Given the description of an element on the screen output the (x, y) to click on. 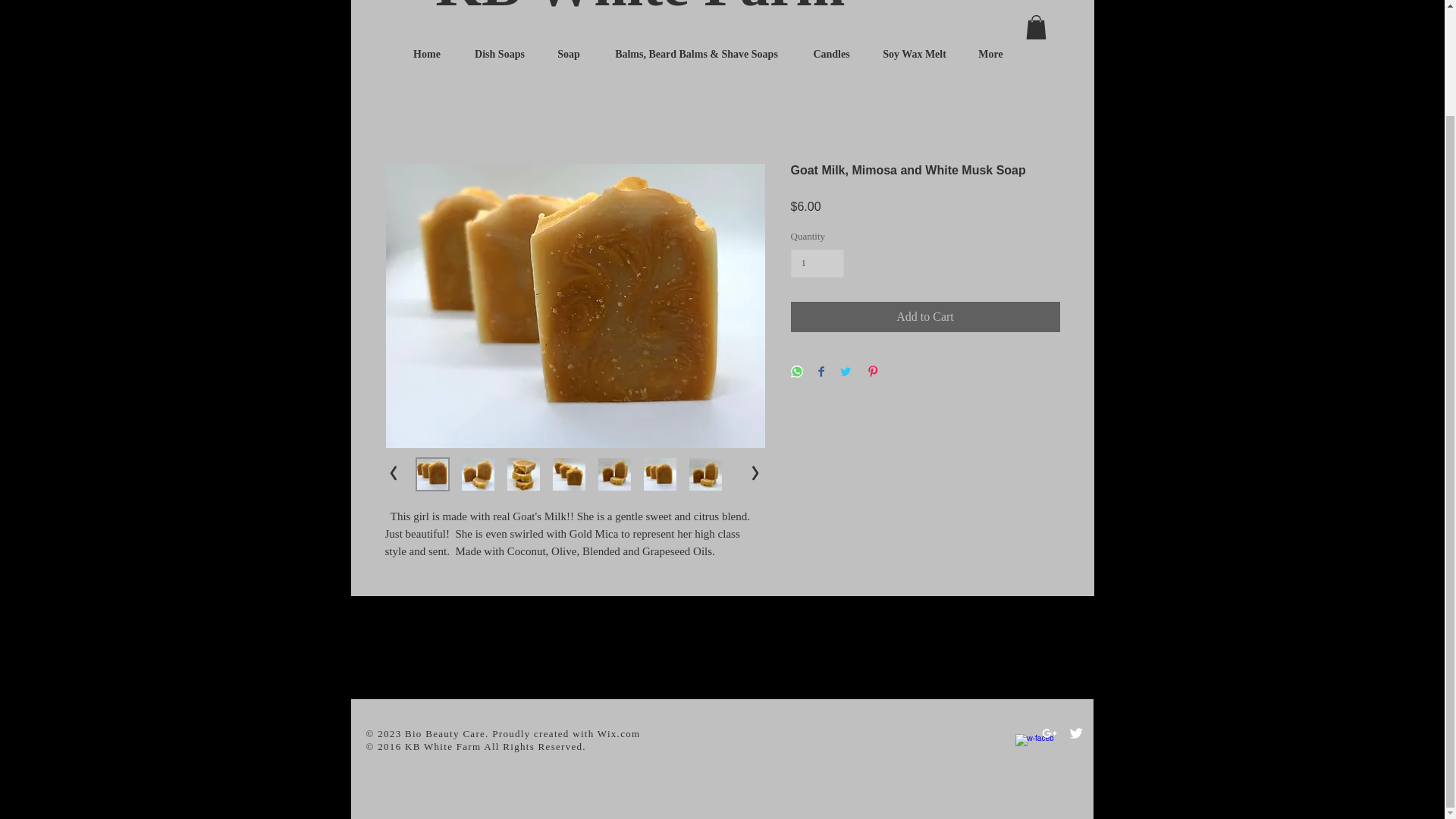
Home (426, 54)
Soap (568, 54)
Candles (831, 54)
KB White Farm (639, 9)
Soy Wax Melt (914, 54)
Dish Soaps (499, 54)
1 (817, 263)
Add to Cart (924, 317)
